Given the description of an element on the screen output the (x, y) to click on. 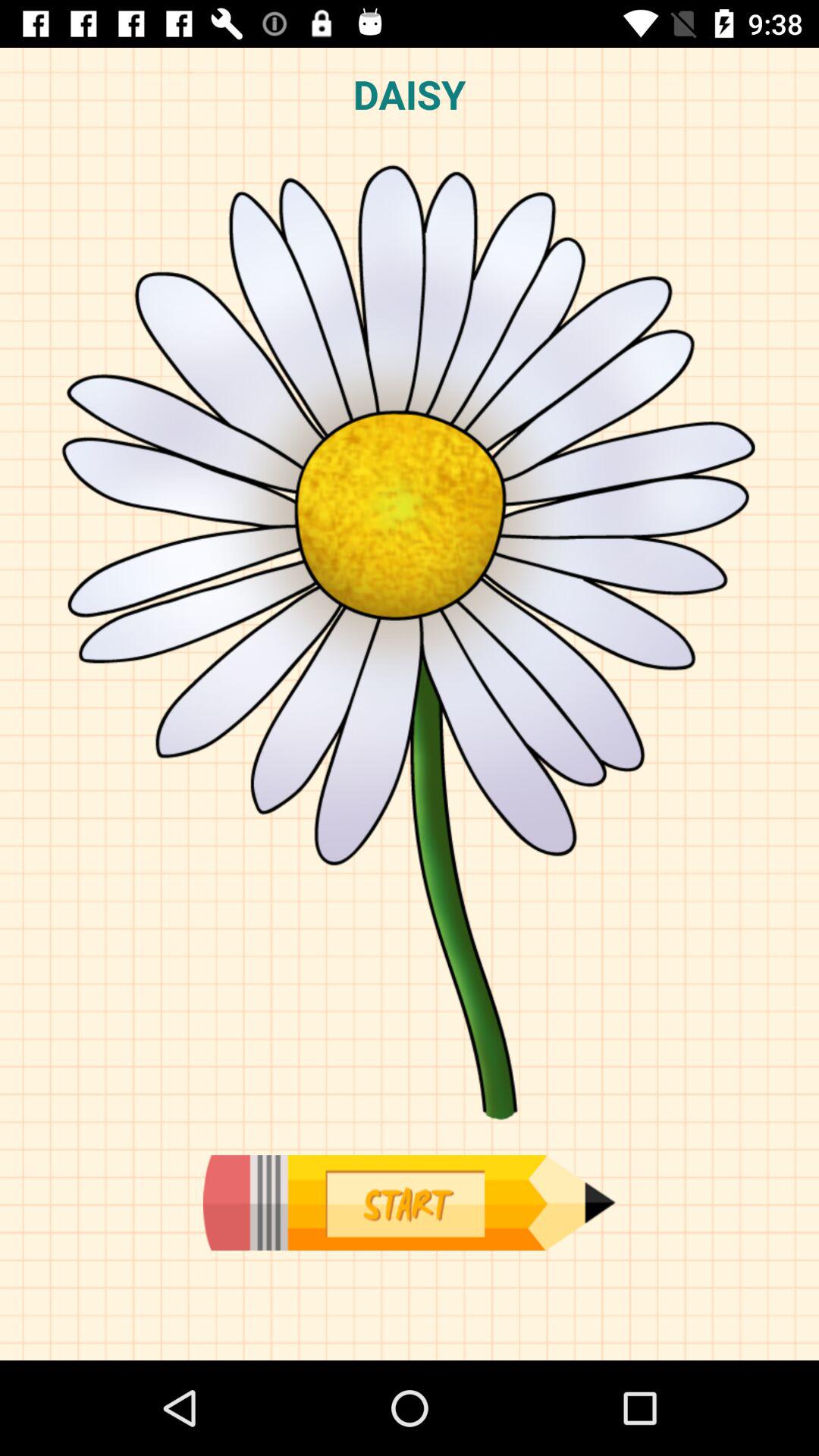
start button (409, 1202)
